Given the description of an element on the screen output the (x, y) to click on. 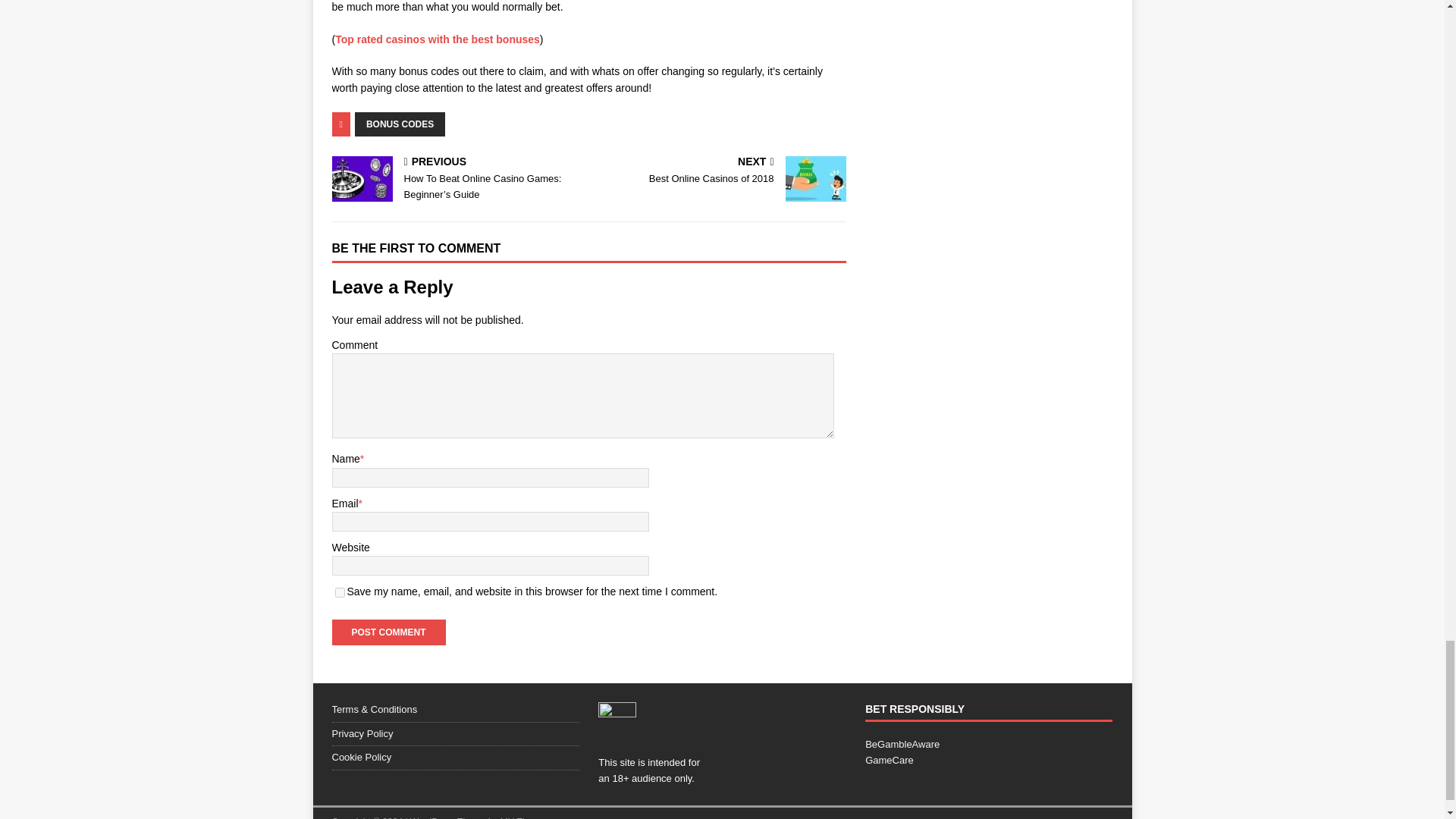
yes (720, 171)
BONUS CODES (339, 592)
Top rated casinos with the best bonuses (400, 124)
Post Comment (437, 39)
Post Comment (388, 632)
